Given the description of an element on the screen output the (x, y) to click on. 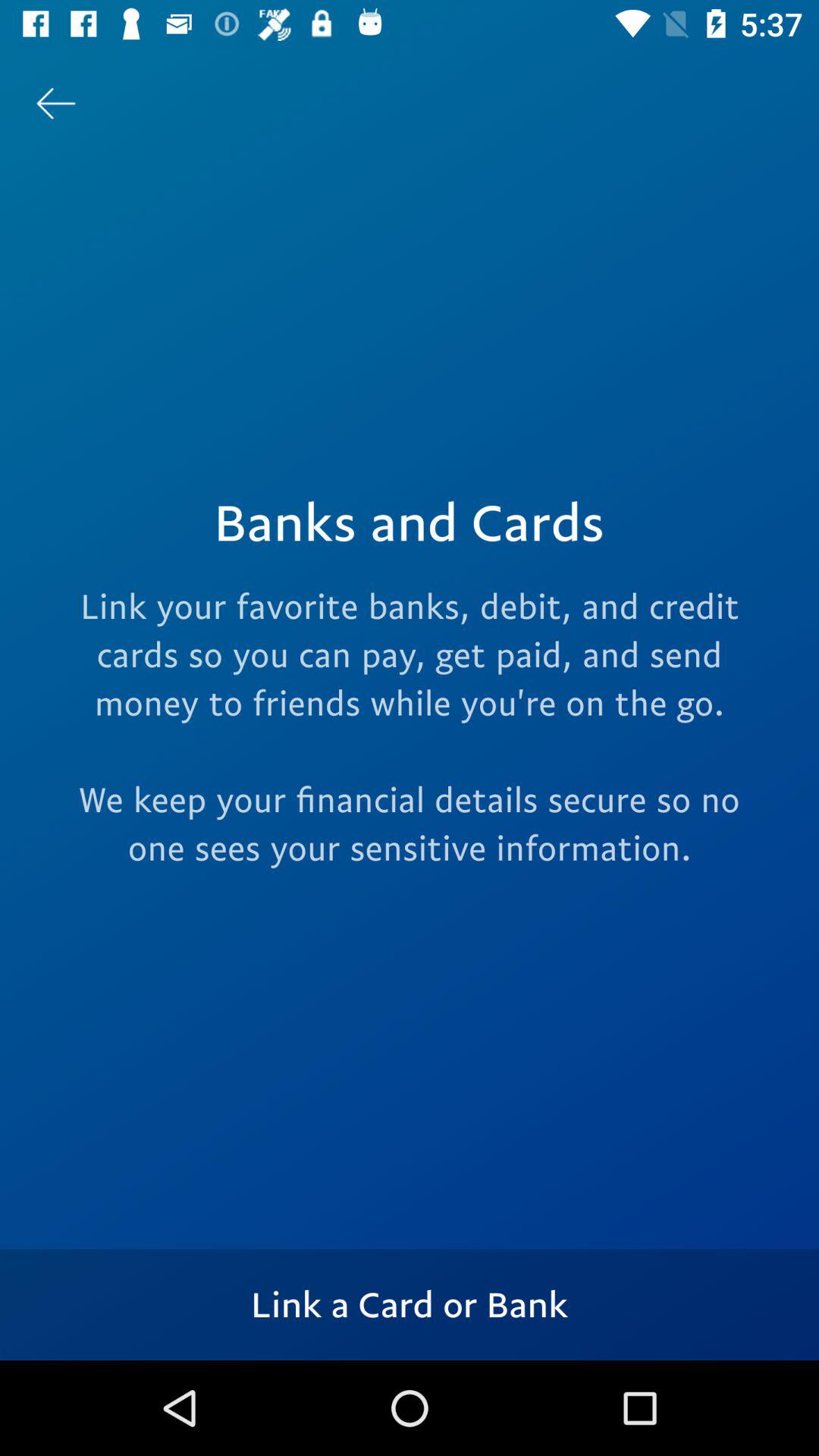
launch the item at the top left corner (55, 103)
